Given the description of an element on the screen output the (x, y) to click on. 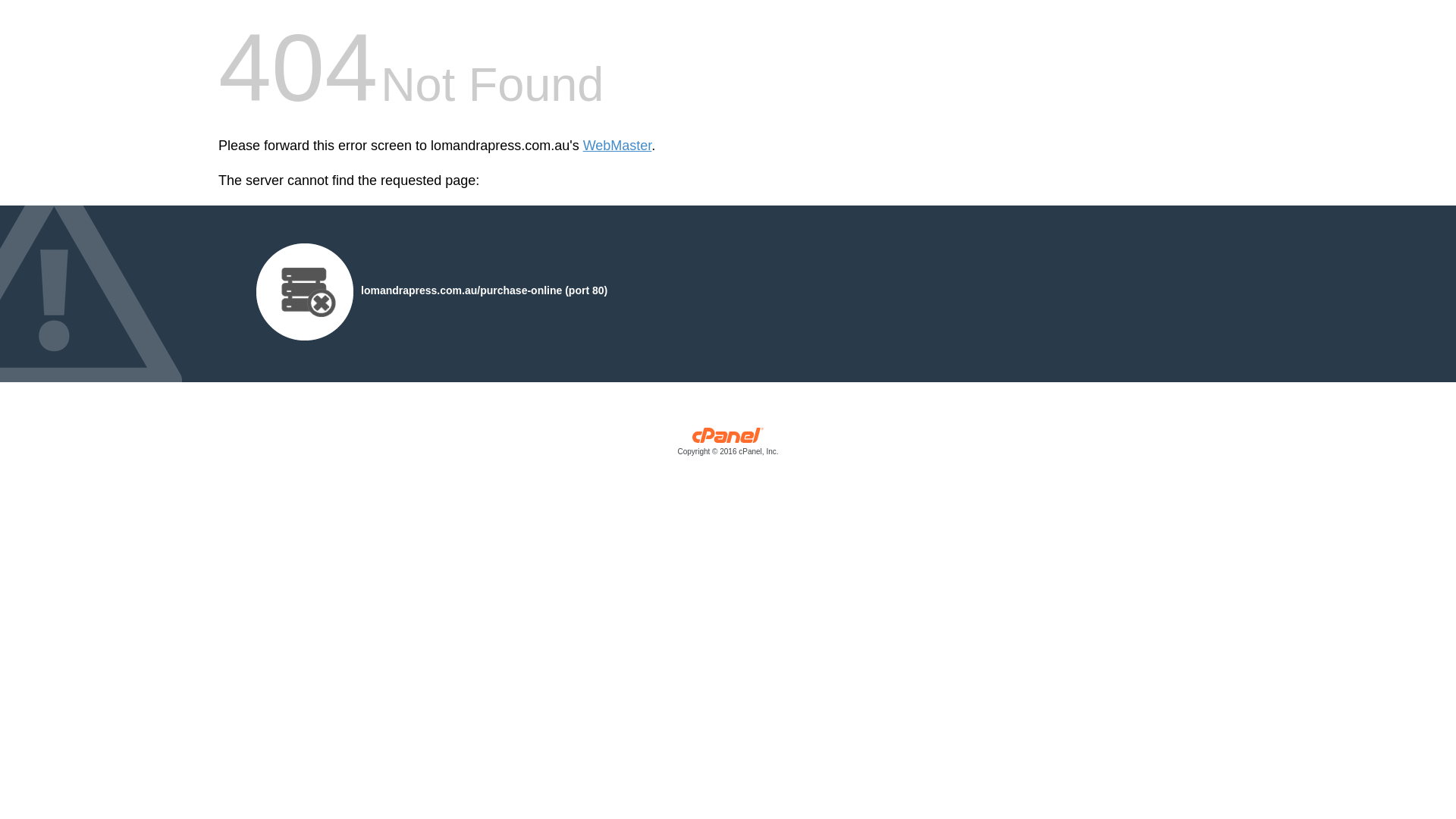
WebMaster Element type: text (617, 145)
